Given the description of an element on the screen output the (x, y) to click on. 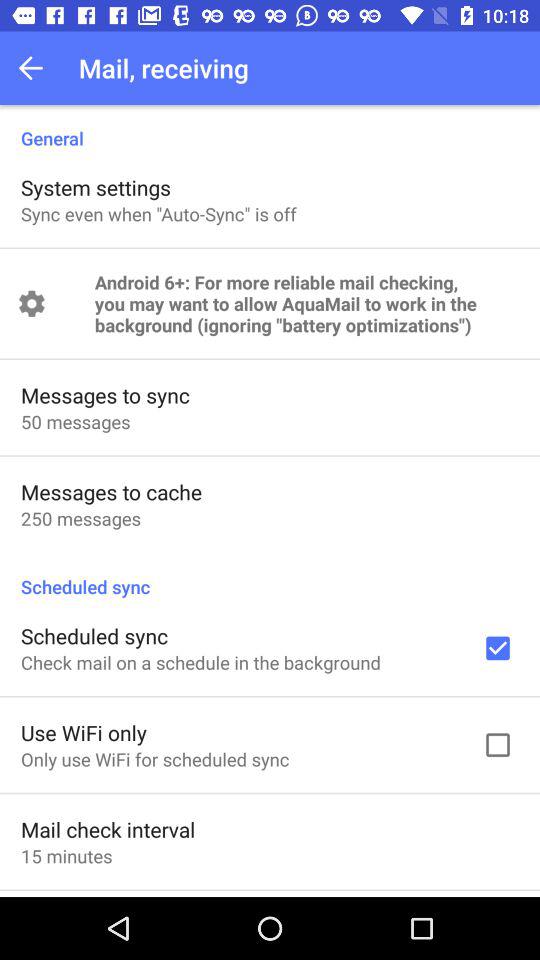
launch app above android 6 for item (158, 213)
